Given the description of an element on the screen output the (x, y) to click on. 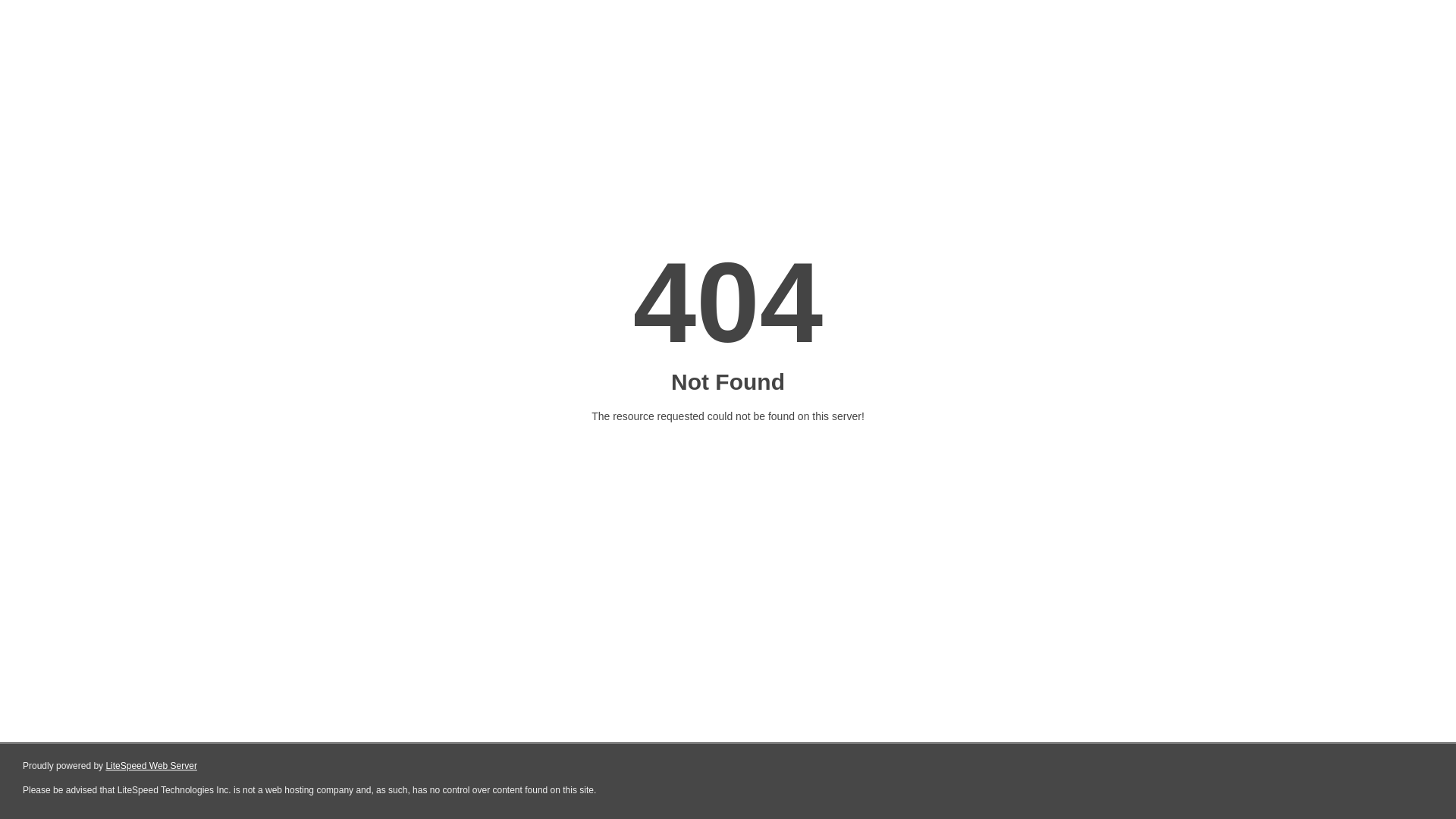
LiteSpeed Web Server Element type: text (151, 765)
